Given the description of an element on the screen output the (x, y) to click on. 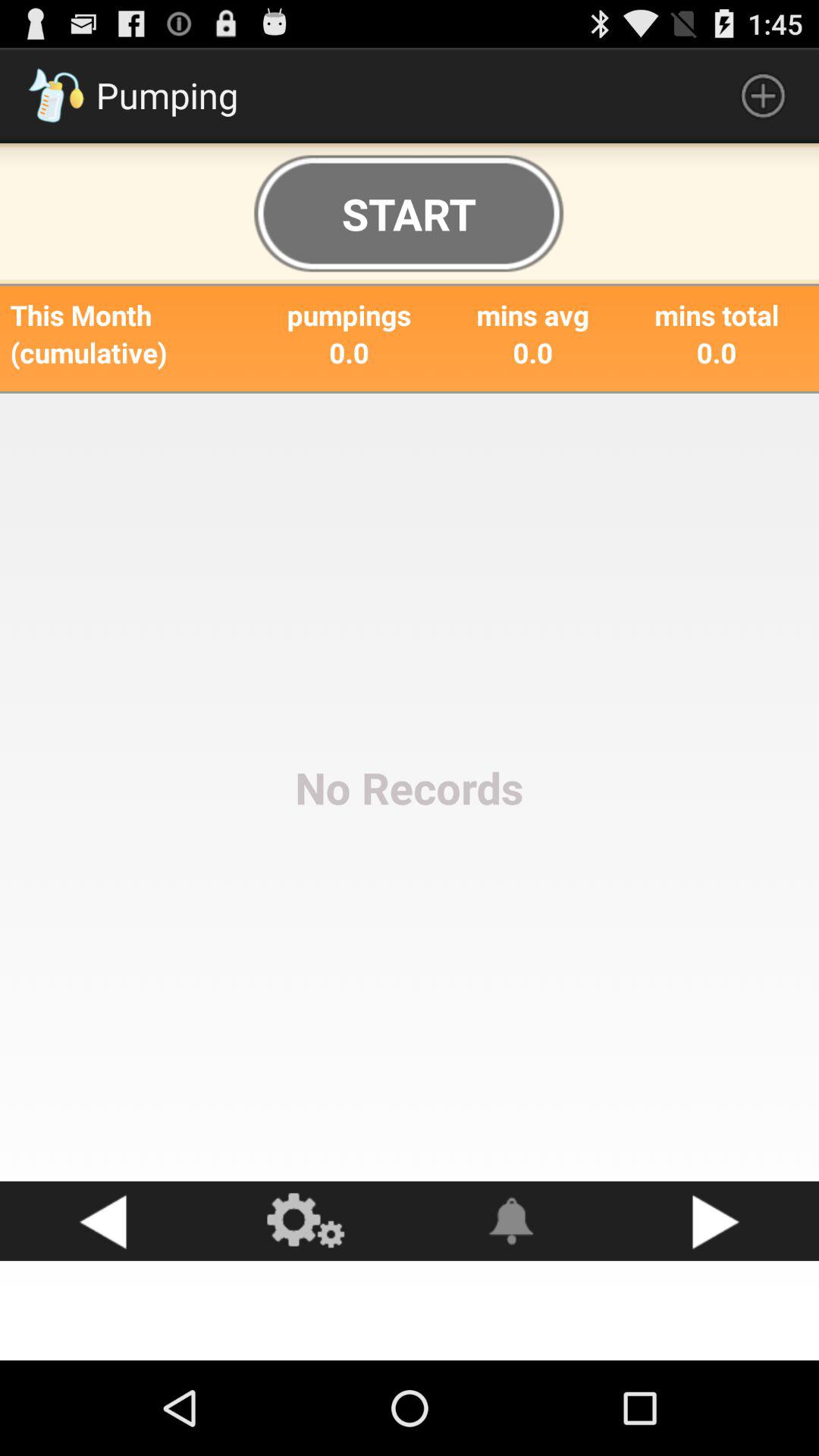
click to get to settings (306, 1220)
